Given the description of an element on the screen output the (x, y) to click on. 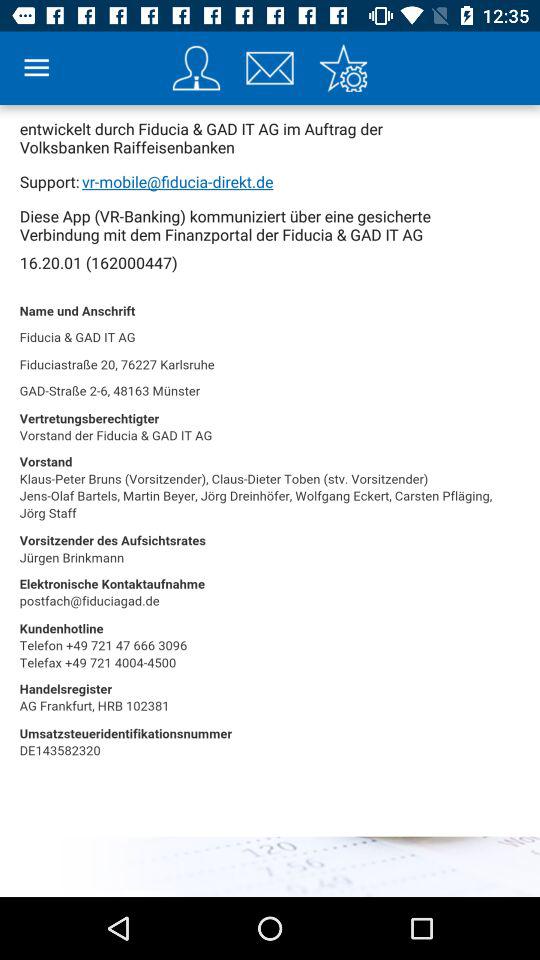
sender information (196, 67)
